Given the description of an element on the screen output the (x, y) to click on. 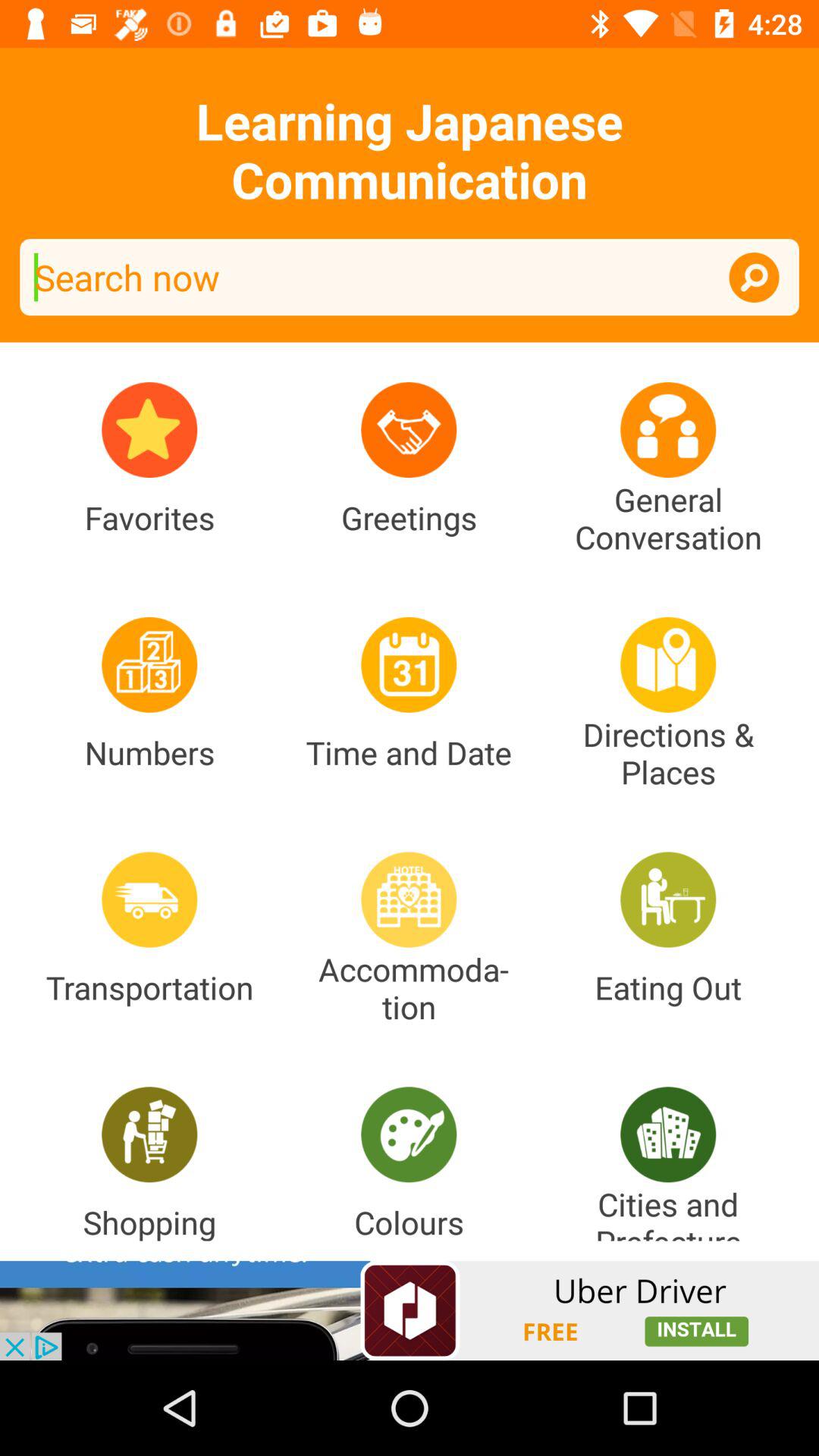
to activate the search option (754, 277)
